Given the description of an element on the screen output the (x, y) to click on. 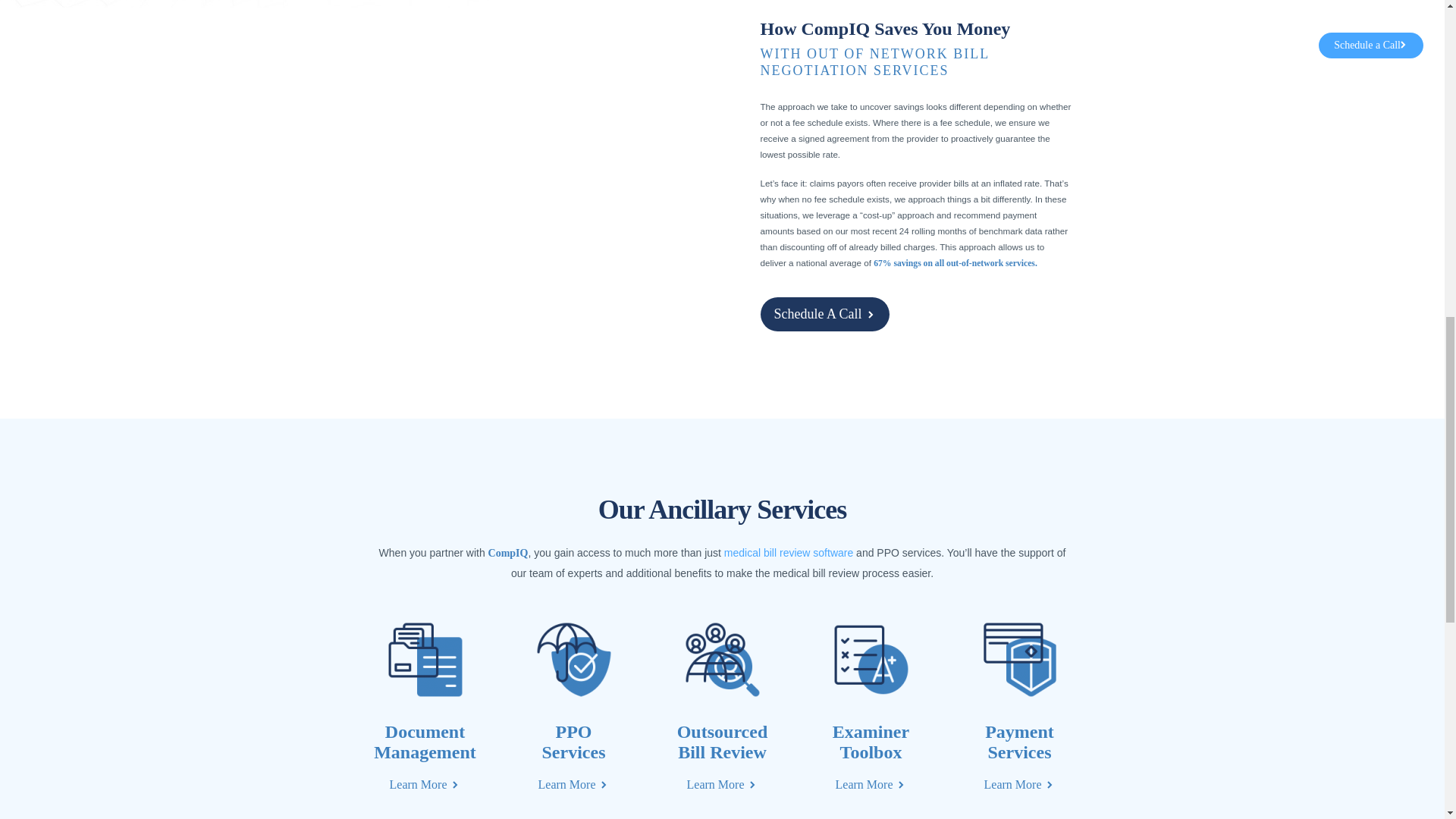
Examiner Toolbox (870, 741)
medical bill review software (788, 552)
Learn More (425, 784)
Learn More (1019, 784)
Learn More (722, 784)
Outsourced Bill Review (722, 741)
Document Management (425, 741)
Learn More (871, 784)
Payment Services (1019, 741)
Learn More (574, 784)
PPO Services (573, 741)
Schedule A Call (824, 314)
